Given the description of an element on the screen output the (x, y) to click on. 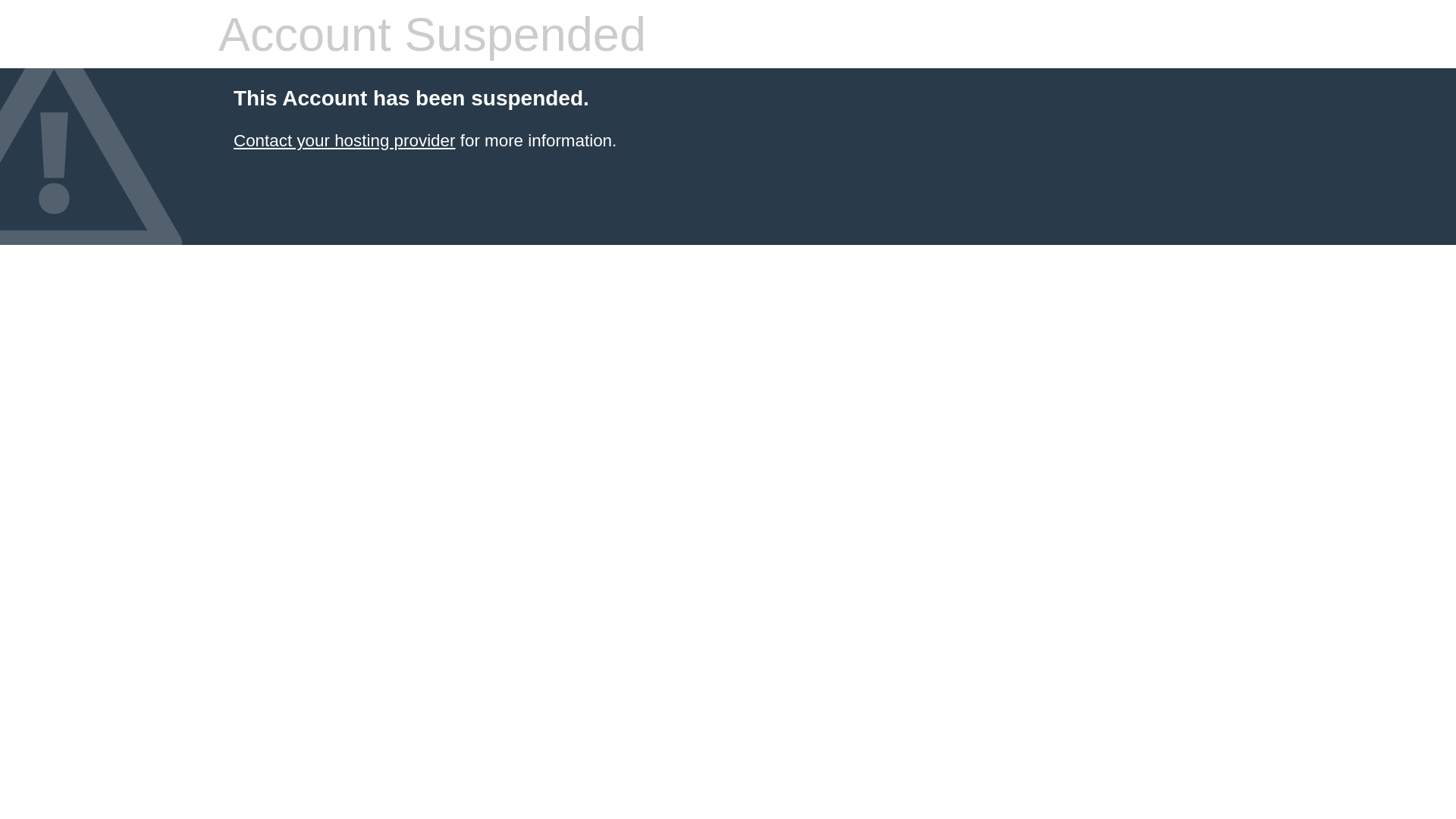
Contact your hosting provider Element type: text (344, 140)
